Given the description of an element on the screen output the (x, y) to click on. 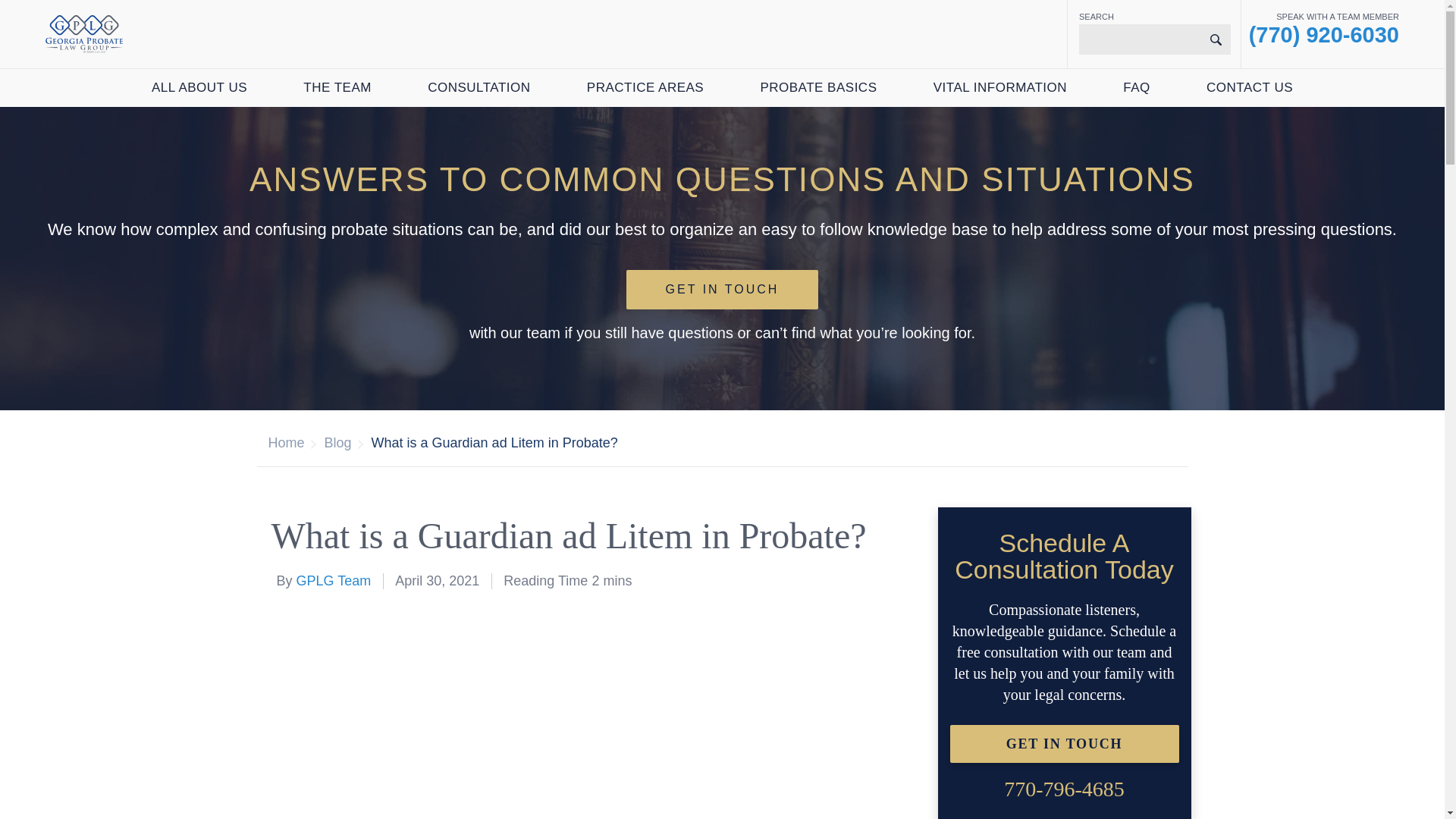
PRACTICE AREAS (644, 87)
PROBATE BASICS (818, 87)
FAQ (1136, 87)
GPLG Team (334, 581)
Blog (338, 443)
GET IN TOUCH (722, 289)
ALL ABOUT US (199, 87)
Home (285, 443)
VITAL INFORMATION (1000, 87)
THE TEAM (336, 87)
